Given the description of an element on the screen output the (x, y) to click on. 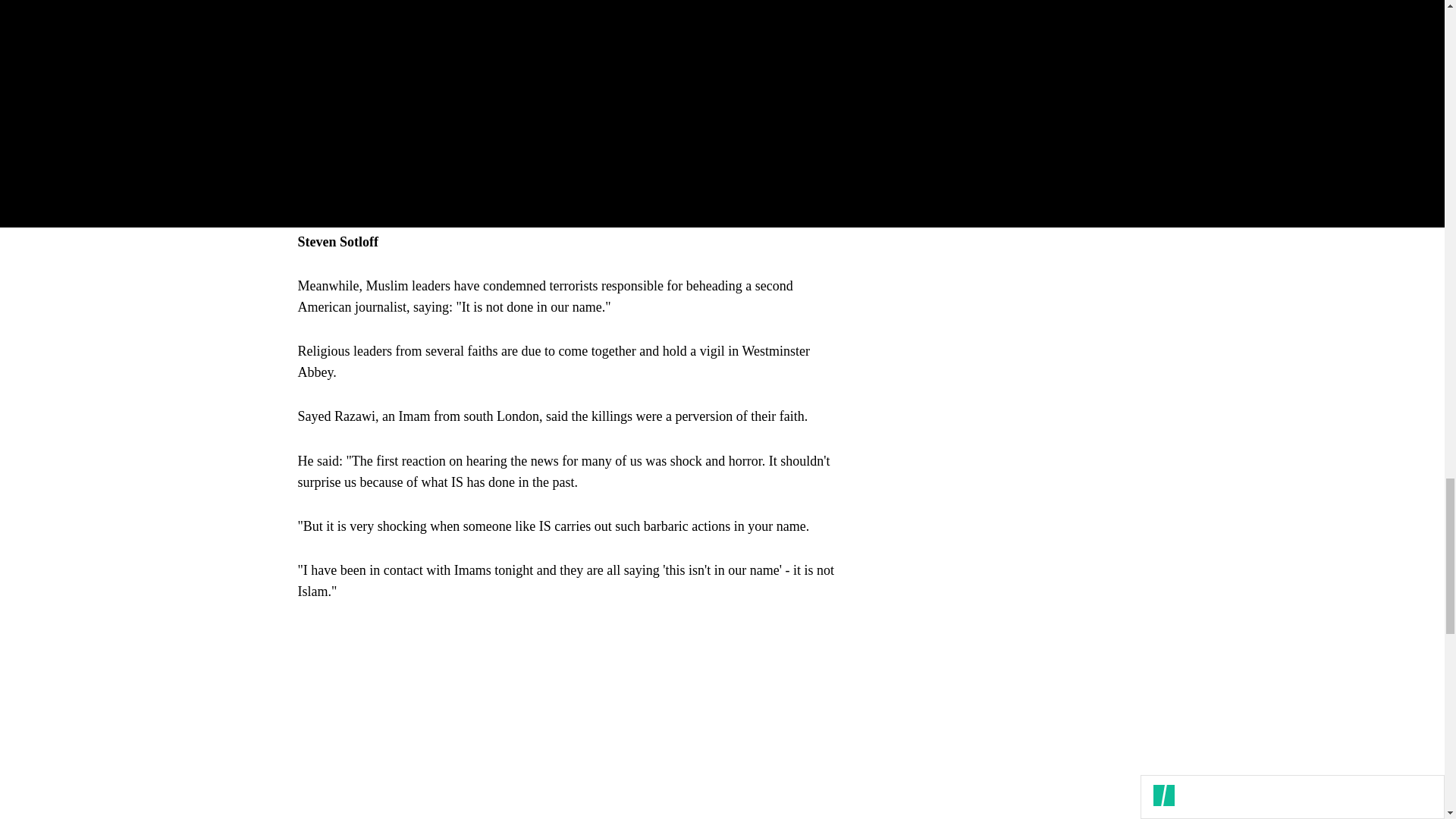
SIGN UP (1098, 114)
